Given the description of an element on the screen output the (x, y) to click on. 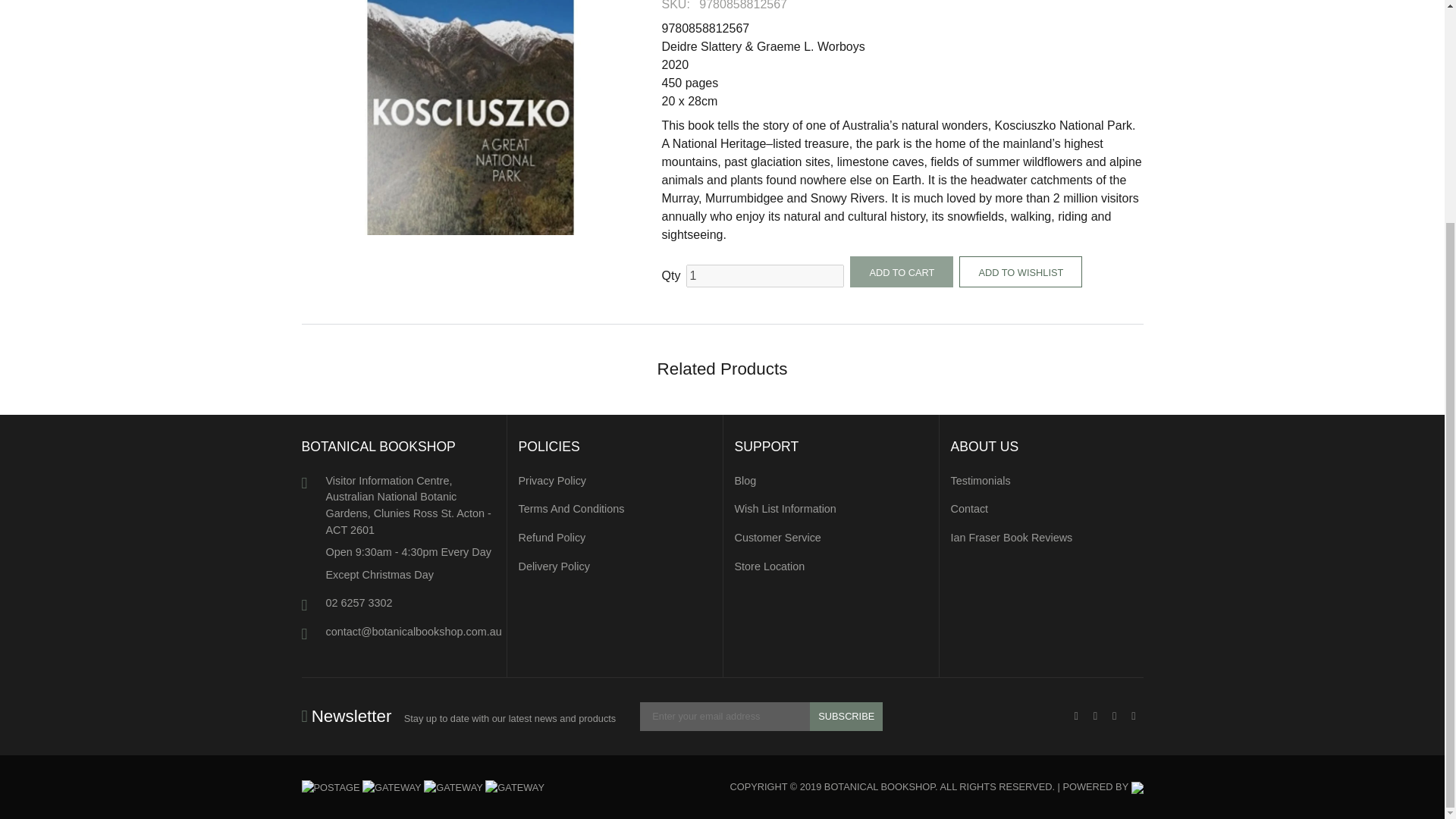
1 (764, 275)
